Given the description of an element on the screen output the (x, y) to click on. 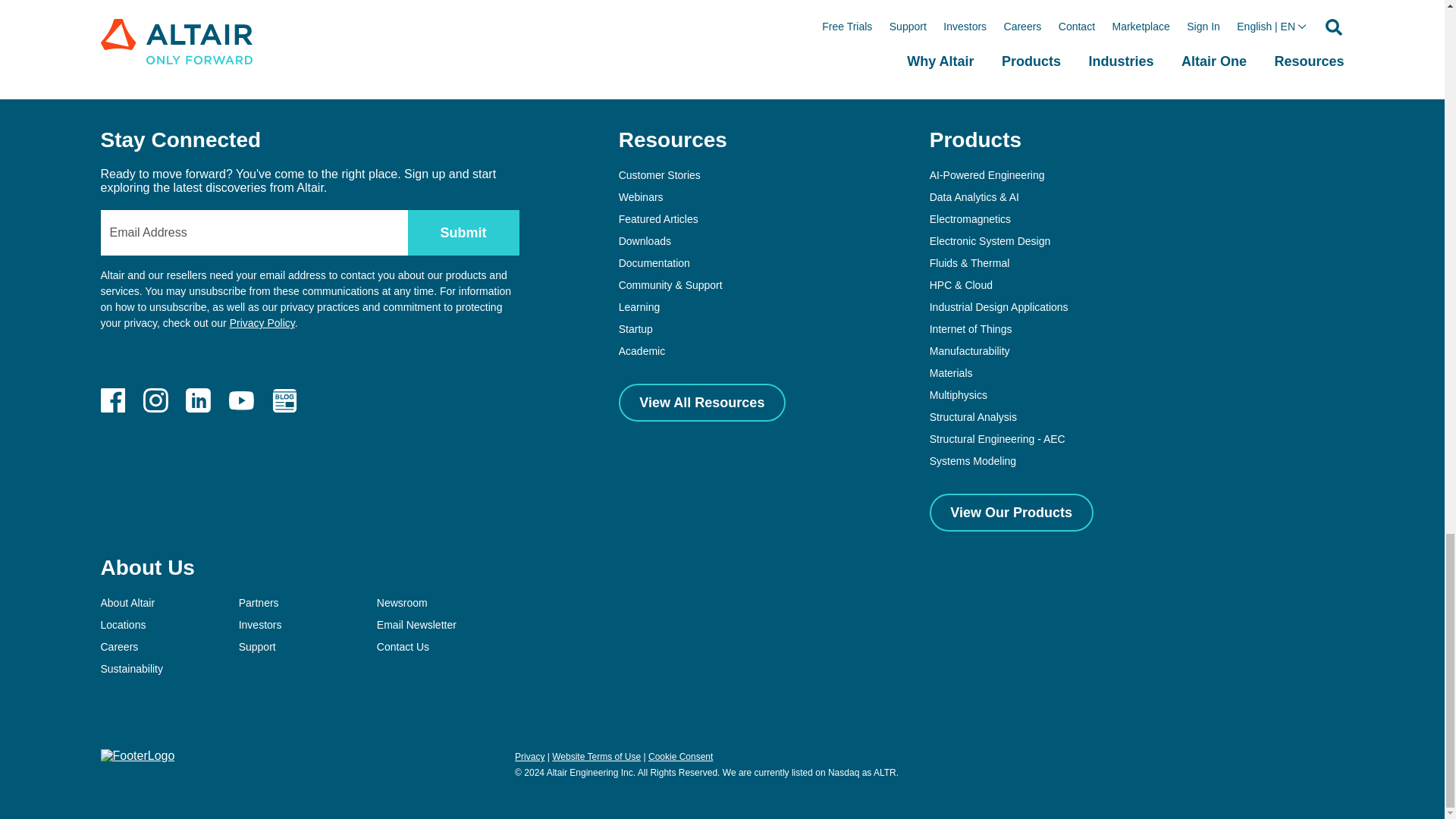
Read our privacy policy (262, 322)
Submit (463, 232)
Footer Logo (137, 755)
